Given the description of an element on the screen output the (x, y) to click on. 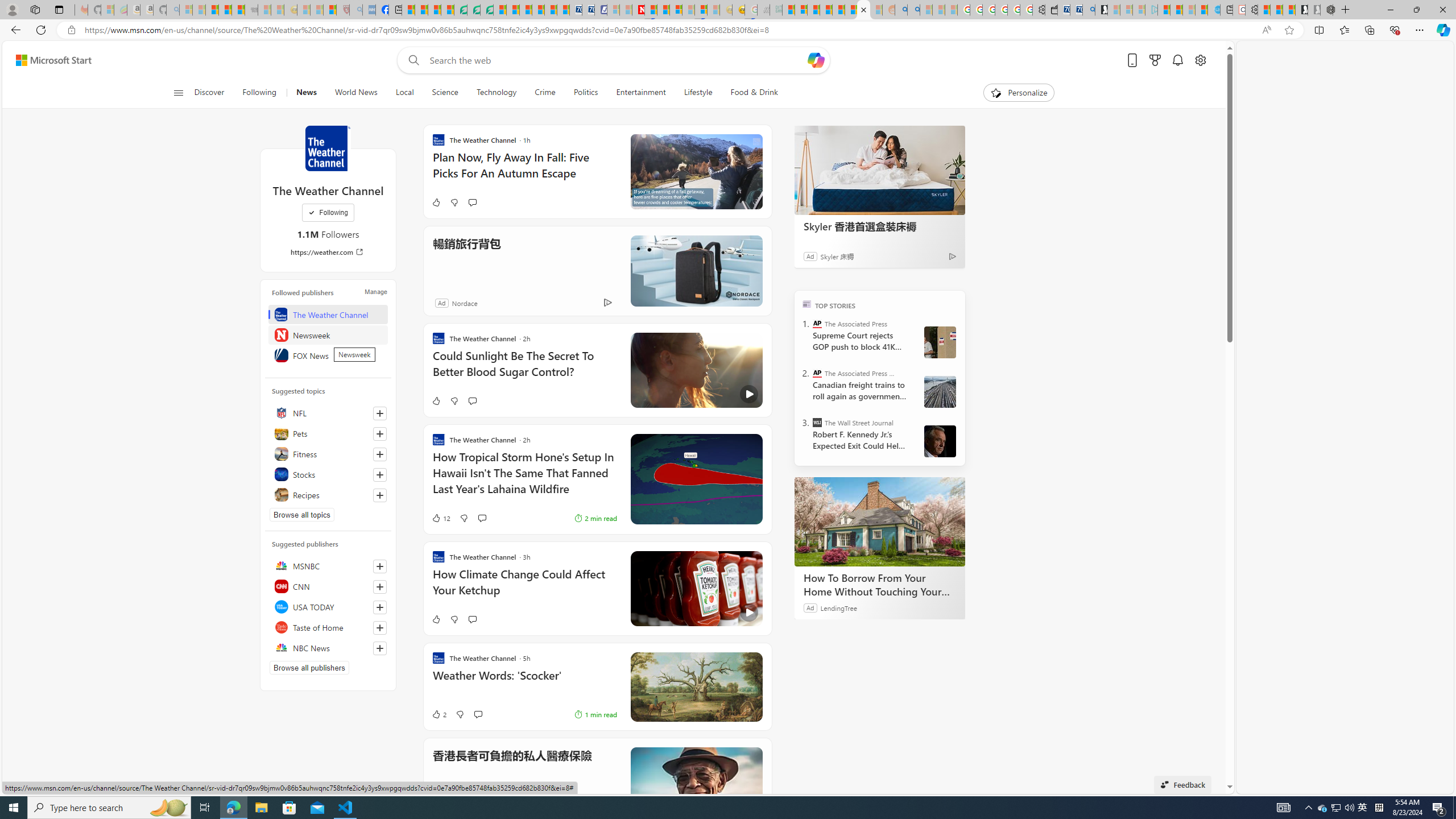
Recipes (327, 494)
